Given the description of an element on the screen output the (x, y) to click on. 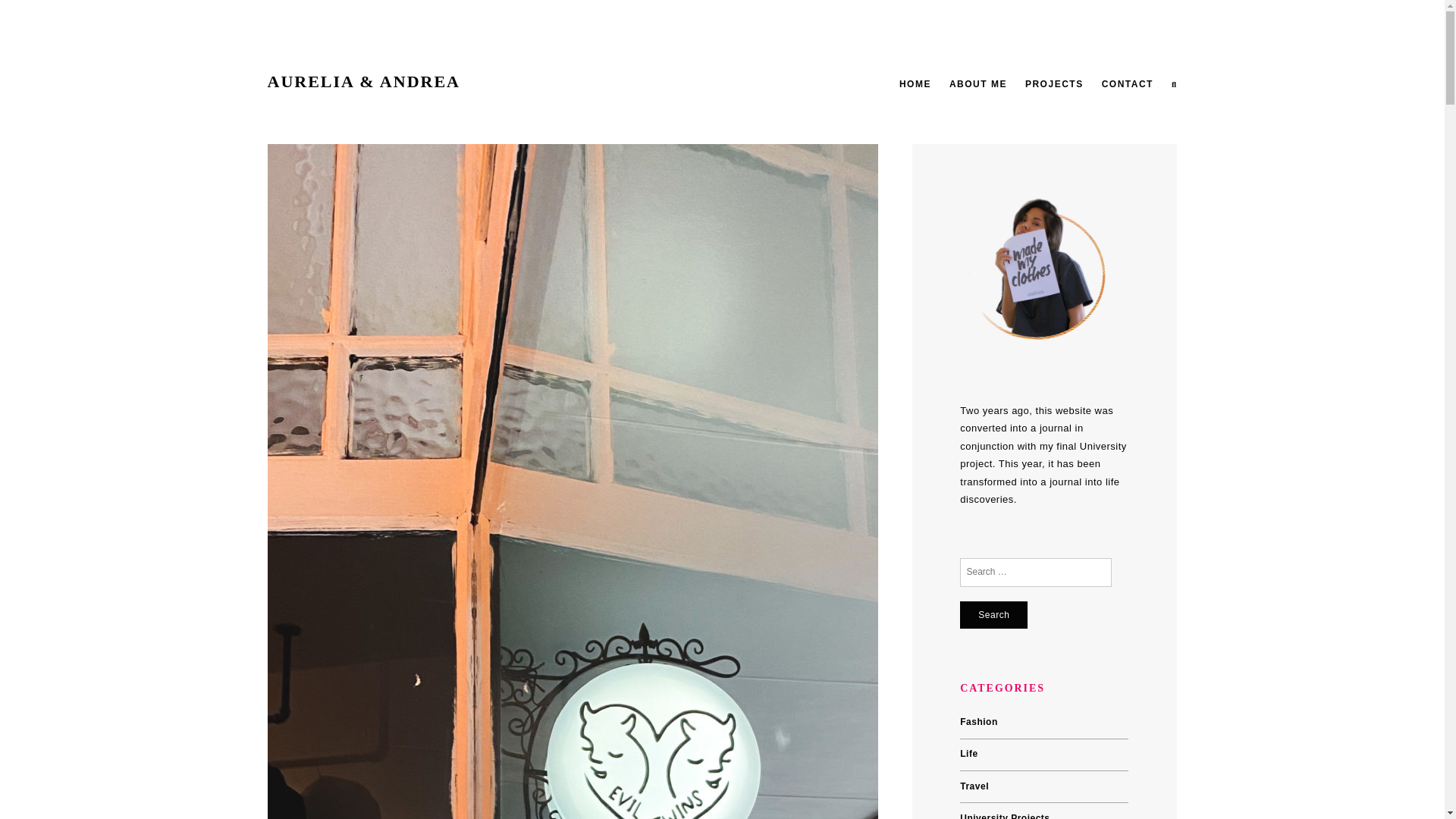
Search (993, 614)
University Projects (1004, 816)
Travel (973, 786)
PROJECTS (1054, 83)
CONTACT (1127, 83)
Fashion (978, 721)
Search (993, 614)
ABOUT ME (978, 83)
HOME (915, 83)
Search (993, 614)
Life (967, 753)
